Given the description of an element on the screen output the (x, y) to click on. 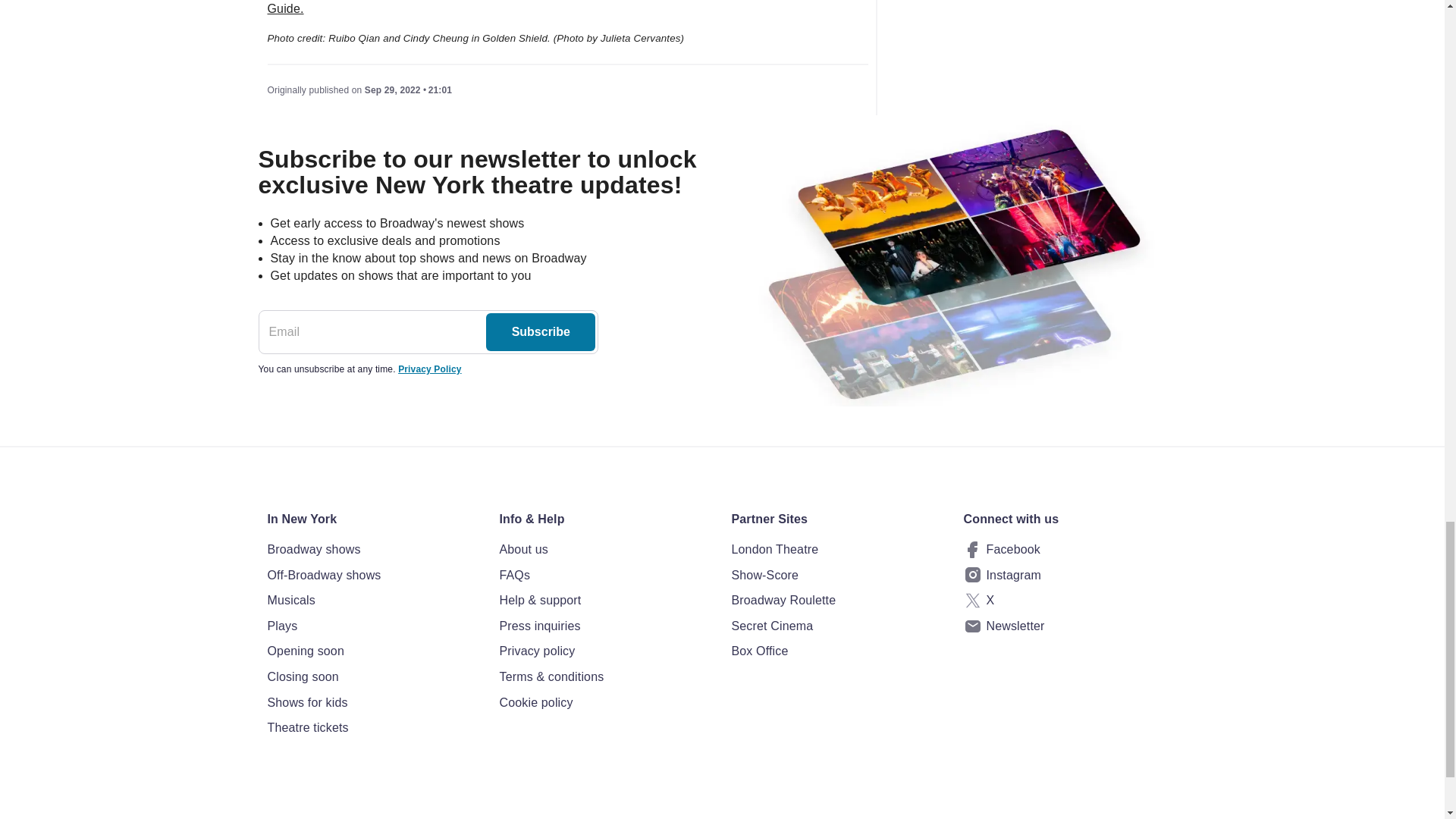
Off-Broadway shows (373, 575)
Theatre tickets (373, 727)
Secret Cinema (837, 626)
Cookie policy (606, 702)
About us (606, 549)
Broadway shows (373, 549)
Press inquiries (606, 626)
FAQs (606, 575)
Plays (373, 626)
Show-Score (837, 575)
